Given the description of an element on the screen output the (x, y) to click on. 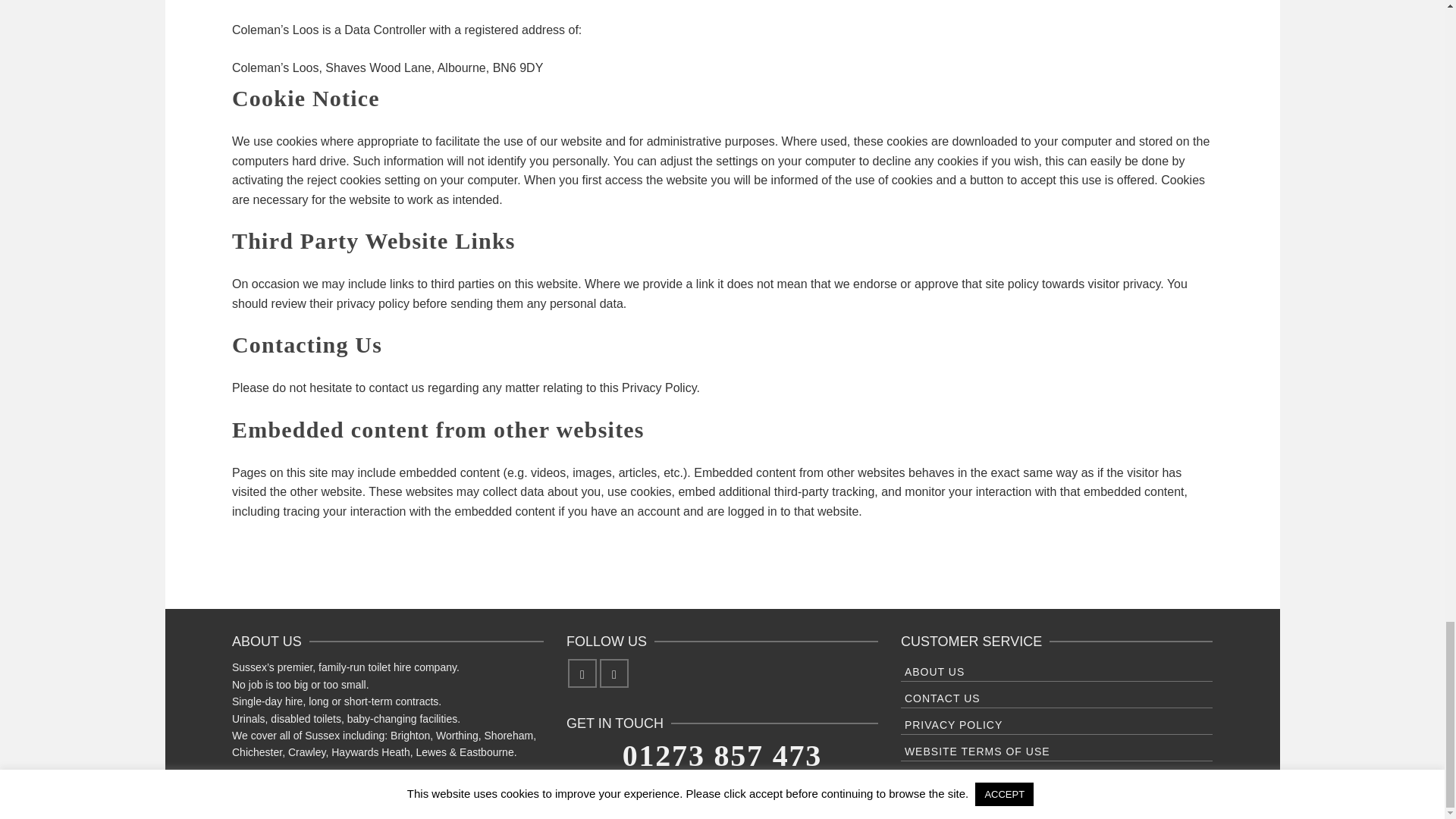
Kadence WP (768, 803)
CONTACT US (1056, 696)
PRIVACY POLICY (1056, 722)
ABOUT US (1056, 670)
01273 857 473 (722, 755)
WEBSITE TERMS OF USE (1056, 749)
Virtualis (864, 803)
